Given the description of an element on the screen output the (x, y) to click on. 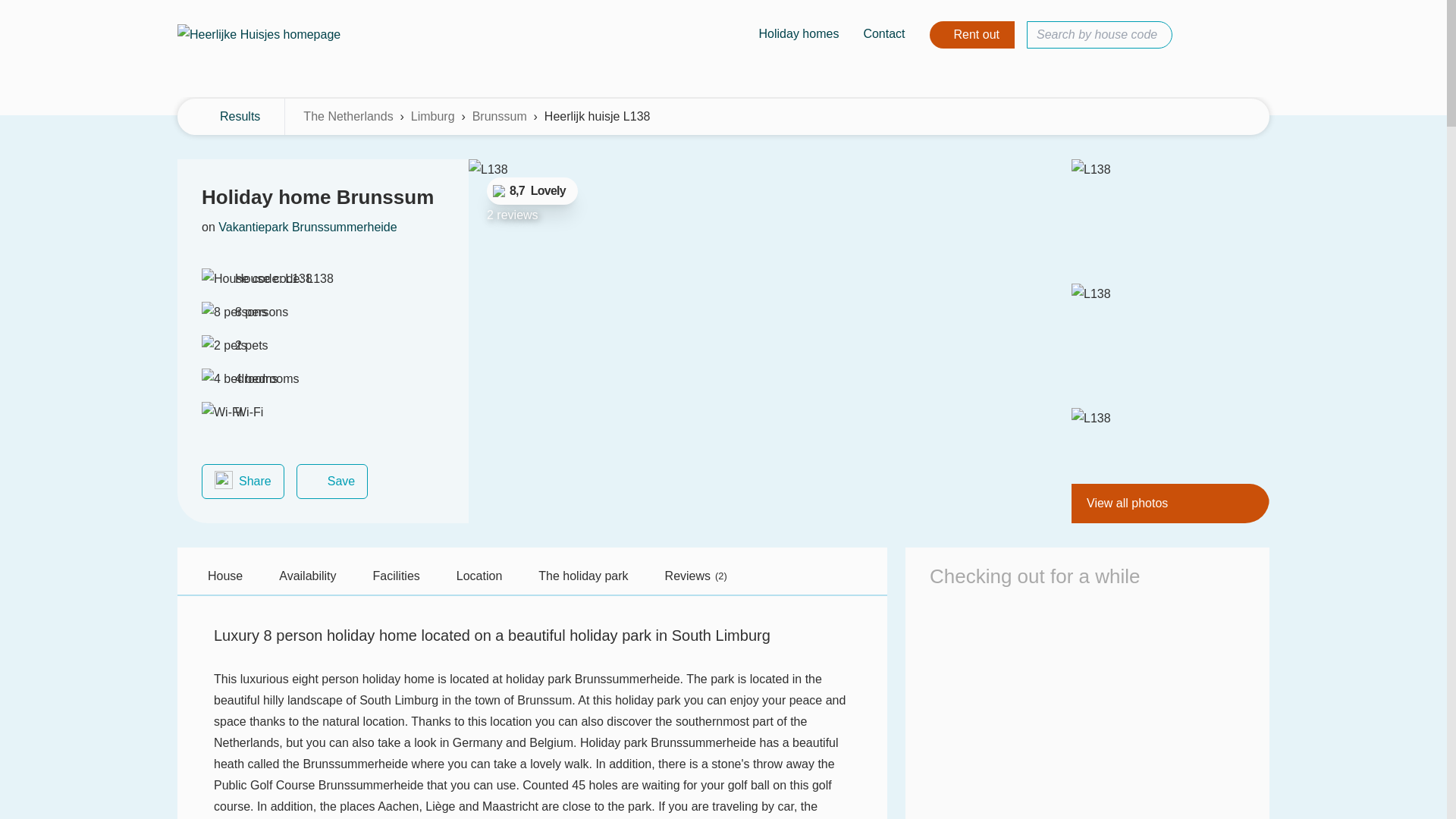
View all photos (1170, 503)
Holiday homes (799, 34)
Rent out (972, 34)
Contact (883, 34)
Share (242, 481)
Save (332, 481)
Brunssum (499, 116)
Results (230, 116)
Vakantiepark Brunssummerheide (307, 227)
Overview favourites (1199, 34)
